Given the description of an element on the screen output the (x, y) to click on. 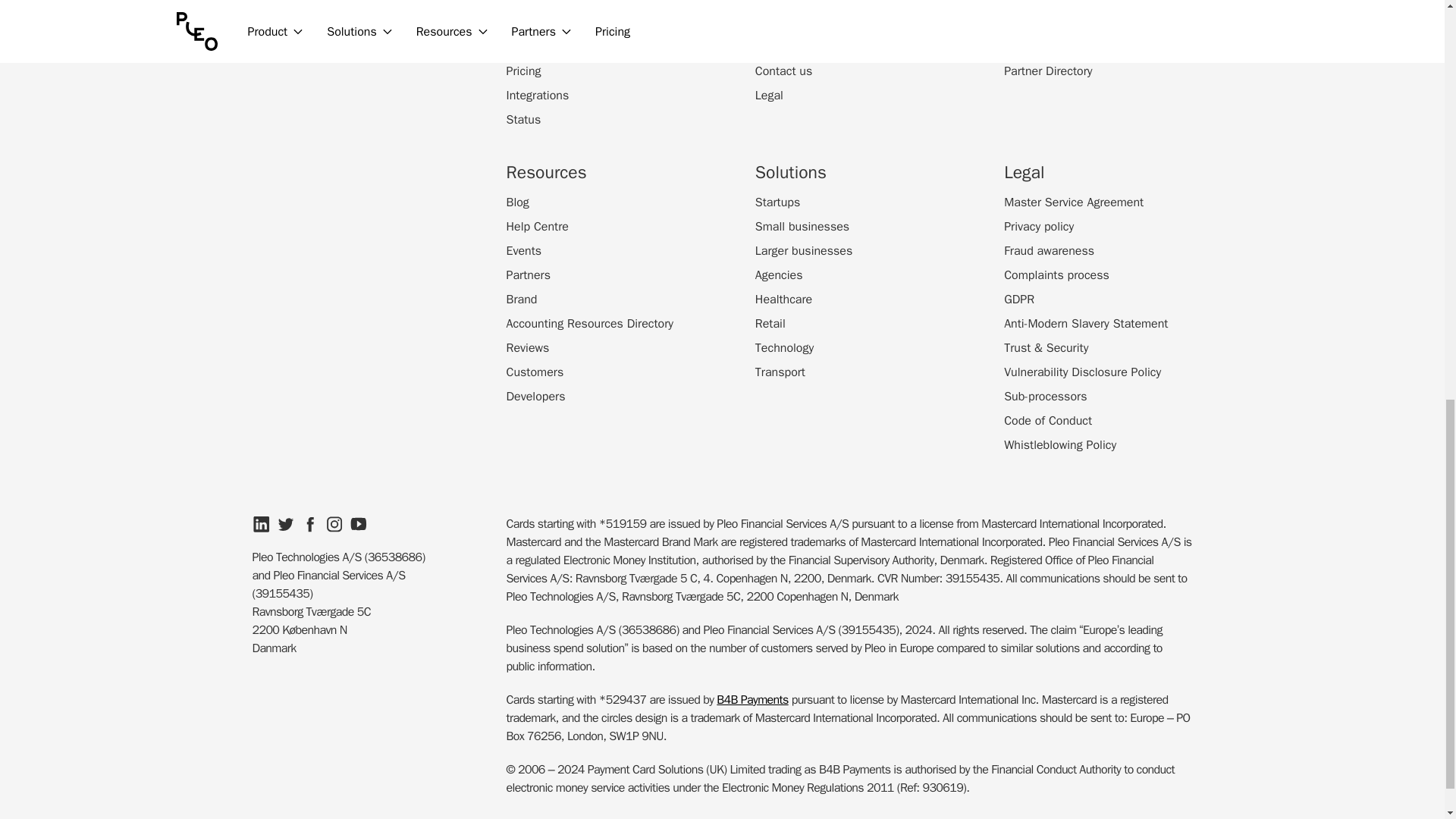
Accounting Partnerships (1067, 22)
Brand (521, 299)
Pleo Partnerships (1050, 3)
Developers (536, 396)
Startups (777, 202)
FAQ (516, 46)
Customers (535, 372)
Careers (775, 22)
Partners (528, 275)
Status (523, 119)
